Given the description of an element on the screen output the (x, y) to click on. 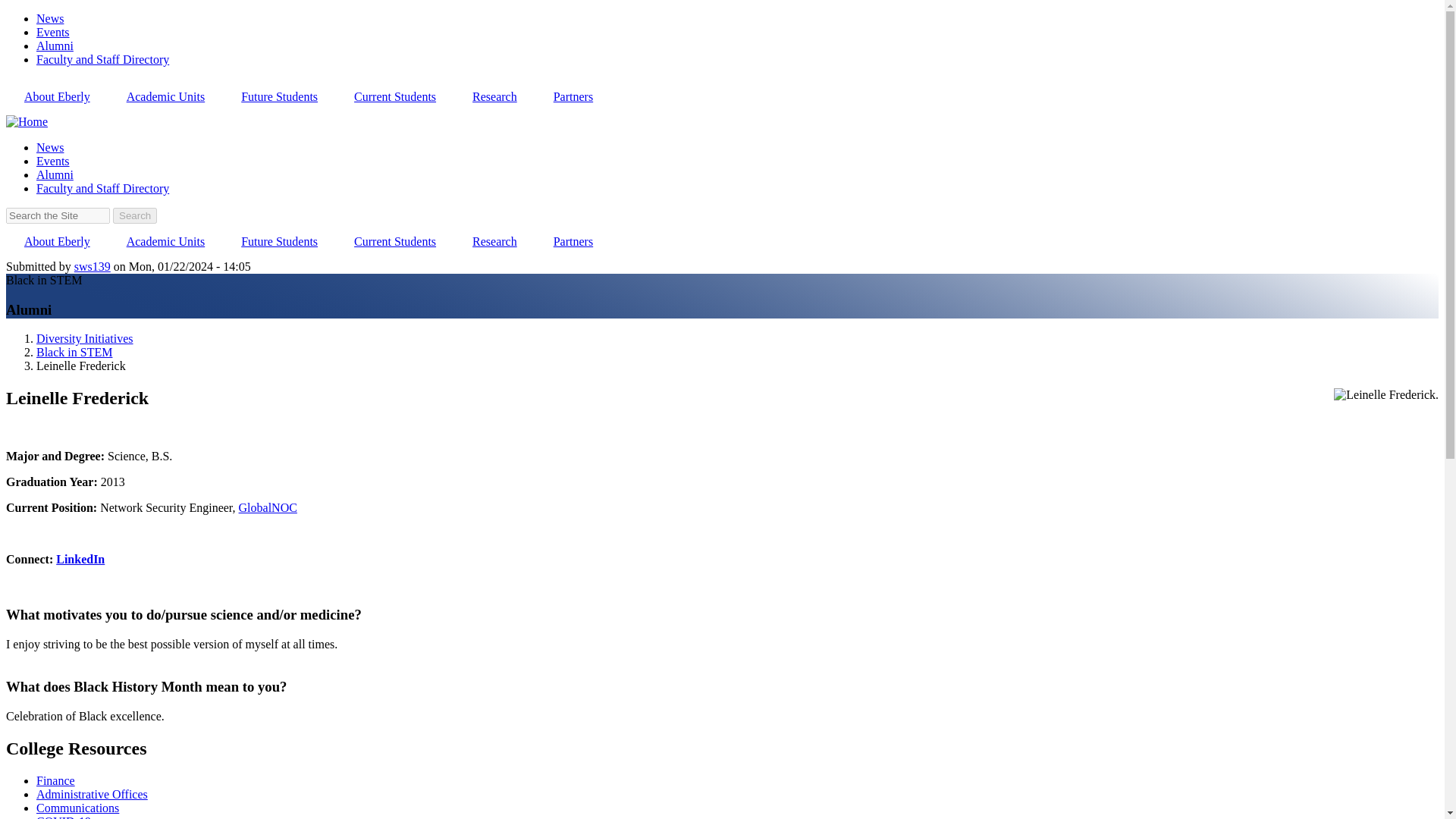
News (50, 18)
Events (52, 31)
Home (26, 121)
Search (135, 215)
Monday, January 22, 2024 - 14:05 (189, 266)
About Eberly (56, 96)
Faculty and Staff Directory (102, 59)
View user profile. (92, 266)
Alumni (55, 45)
